Given the description of an element on the screen output the (x, y) to click on. 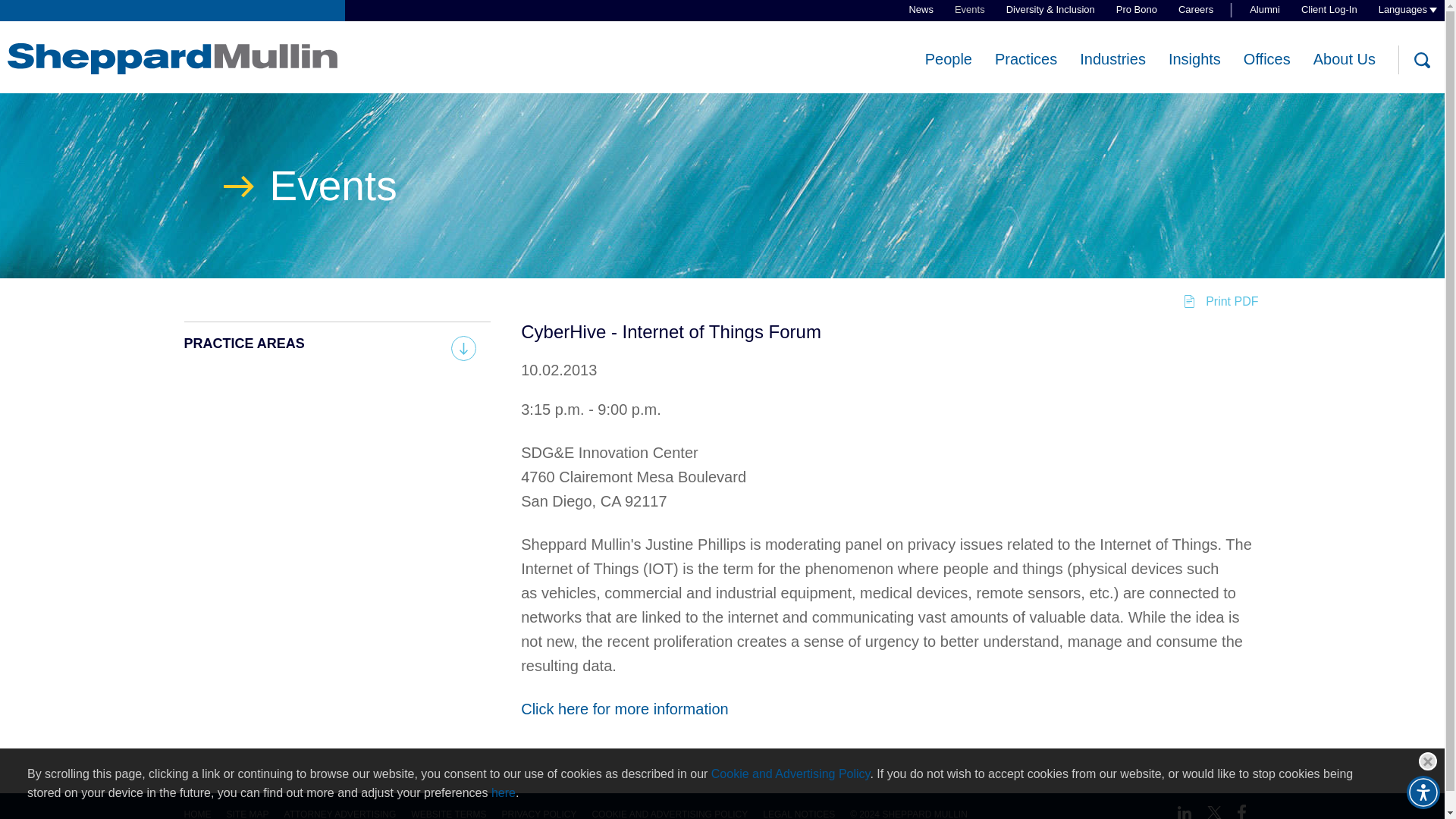
Practices (1025, 59)
Main Content (666, 20)
Main Menu (673, 20)
Menu (673, 20)
People (948, 59)
